Given the description of an element on the screen output the (x, y) to click on. 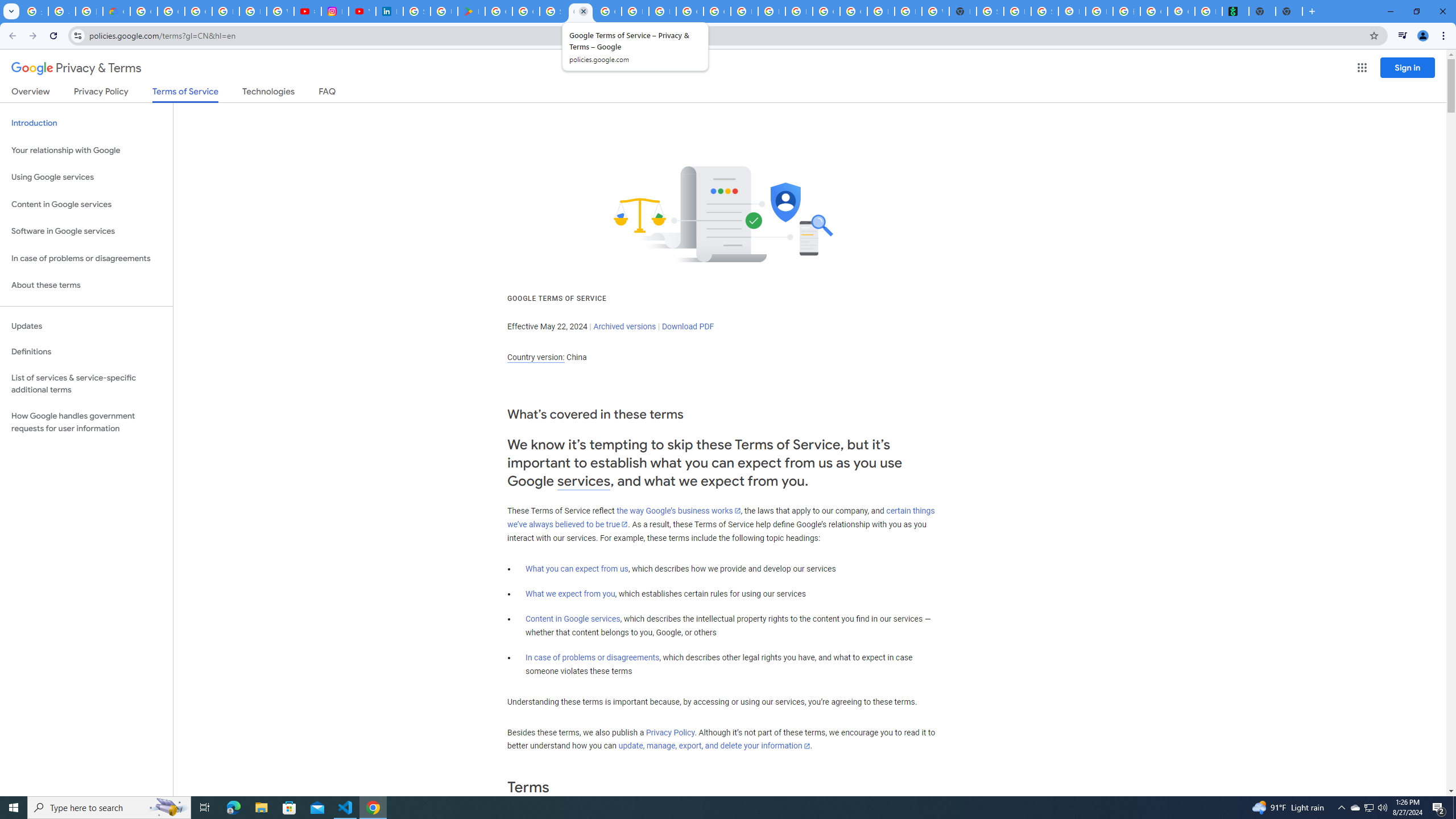
Using Google services (86, 176)
services (583, 480)
#nbabasketballhighlights - YouTube (307, 11)
Content in Google services (572, 618)
How do I create a new Google Account? - Google Account Help (634, 11)
About these terms (86, 284)
Sign in - Google Accounts (416, 11)
In case of problems or disagreements (592, 657)
Archived versions (624, 326)
New Tab (1289, 11)
